Given the description of an element on the screen output the (x, y) to click on. 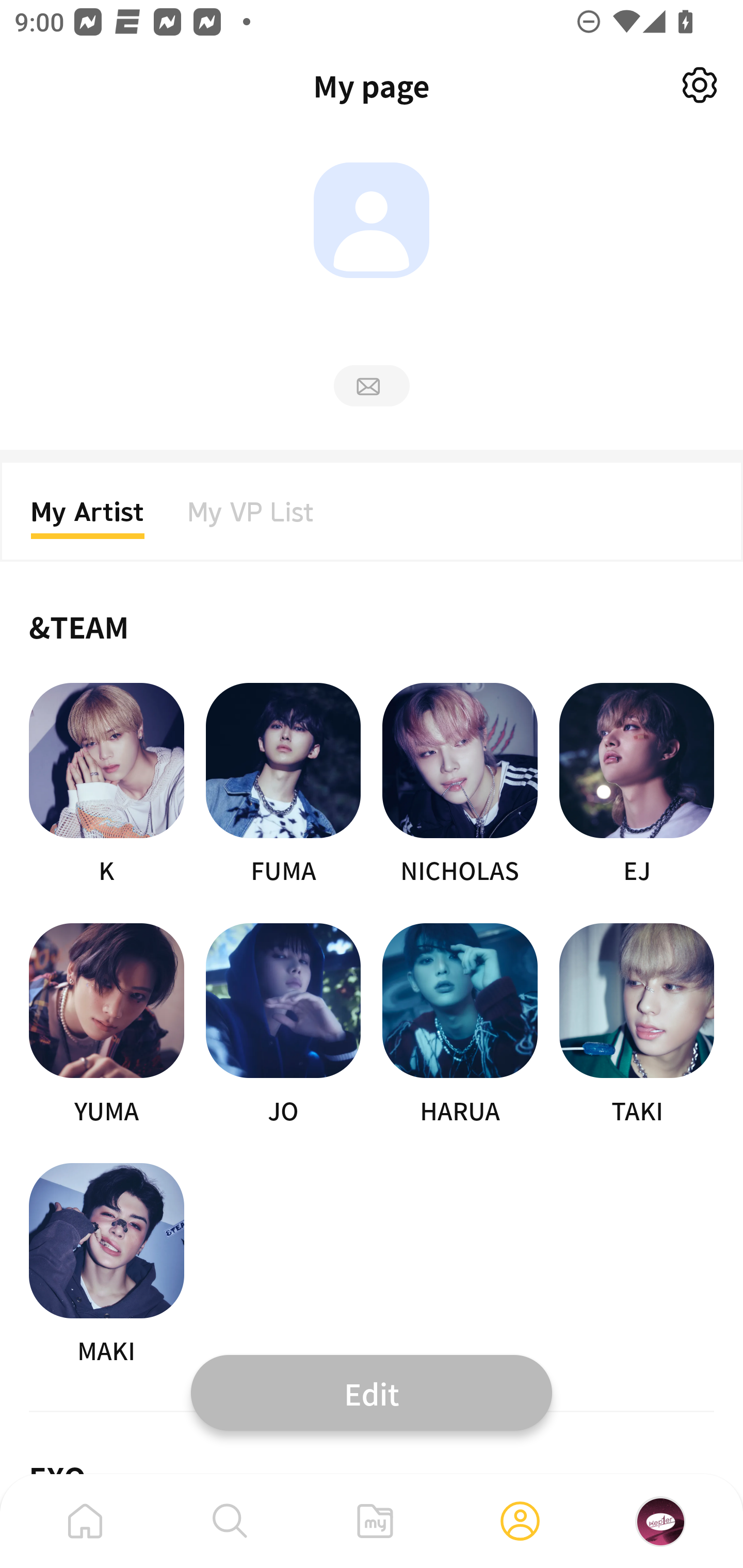
My Artist (87, 517)
My VP List (250, 517)
K (106, 785)
FUMA (282, 785)
NICHOLAS (459, 785)
EJ (636, 785)
YUMA (106, 1025)
JO (282, 1025)
HARUA (459, 1025)
TAKI (636, 1025)
MAKI (106, 1265)
Edit (371, 1392)
